Given the description of an element on the screen output the (x, y) to click on. 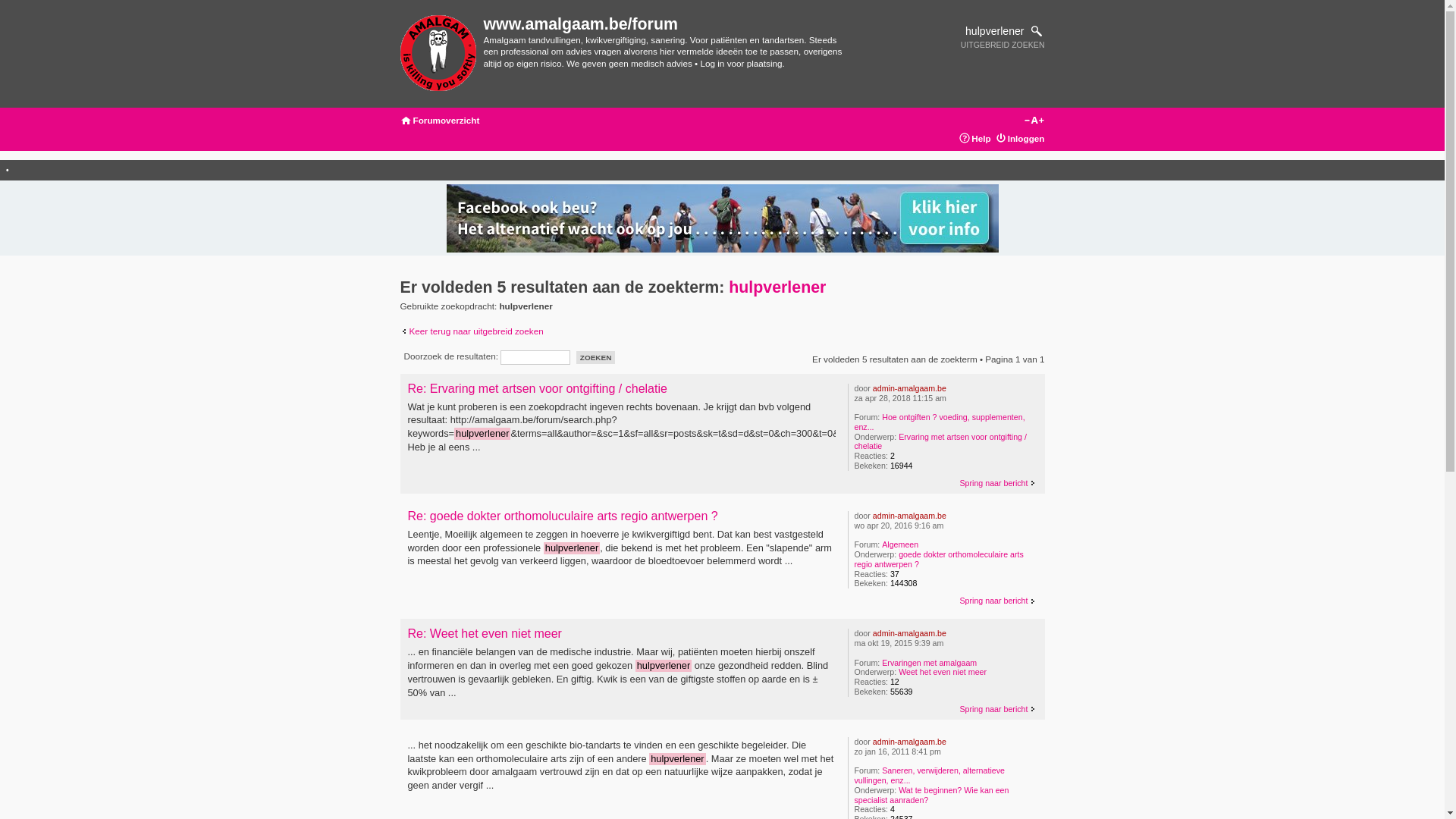
admin-amalgaam.be Element type: text (909, 515)
Help Element type: text (980, 138)
Inloggen Element type: text (1025, 138)
Re: Ervaring met artsen voor ontgifting / chelatie Element type: text (537, 388)
Verander lettergrootte Element type: text (1033, 121)
Hoe ontgiften ? voeding, supplementen, enz... Element type: text (938, 421)
Zoek naar trefwoorden Element type: hover (971, 30)
Ervaring met artsen voor ontgifting / chelatie Element type: text (939, 441)
Wat te beginnen? Wie kan een specialist aanraden? Element type: text (930, 794)
admin-amalgaam.be Element type: text (909, 741)
Forumoverzicht Element type: hover (438, 53)
hulpverlener Element type: text (971, 30)
UITGEBREID ZOEKEN Element type: text (1002, 44)
Re: Weet het even niet meer Element type: text (484, 633)
Re: goede dokter orthomoluculaire arts regio antwerpen ? Element type: text (562, 515)
admin-amalgaam.be Element type: text (909, 387)
Saneren, verwijderen, alternatieve vullingen, enz... Element type: text (928, 774)
goede dokter orthomoleculaire arts regio antwerpen ? Element type: text (937, 558)
Weet het even niet meer Element type: text (942, 671)
Ervaringen met amalgaam Element type: text (928, 662)
Keer terug naar uitgebreid zoeken Element type: text (471, 330)
Forumoverzicht Element type: text (445, 120)
Spring naar bericht Element type: text (997, 482)
Algemeen Element type: text (899, 544)
hulpverlener Element type: text (776, 287)
admin-amalgaam.be Element type: text (909, 632)
Zoeken Element type: text (595, 357)
Spring naar bericht Element type: text (997, 708)
Spring naar bericht Element type: text (997, 600)
